Given the description of an element on the screen output the (x, y) to click on. 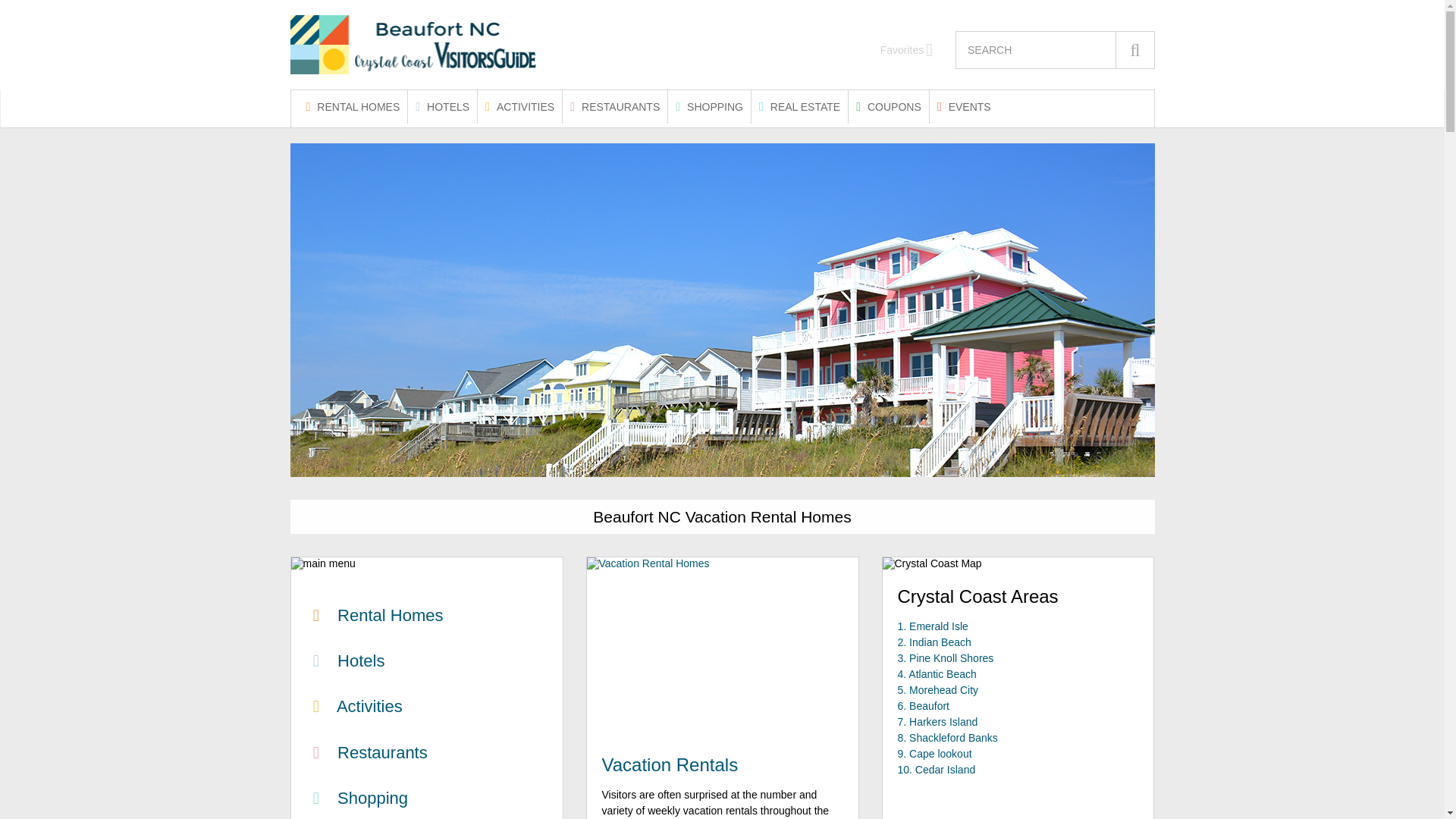
EVENTS (964, 106)
HOTELS (442, 106)
Favorites (906, 49)
REAL ESTATE (799, 106)
RESTAURANTS (614, 106)
Vacation Rentals (670, 764)
  Hotels (345, 660)
SHOPPING (709, 106)
  Restaurants (366, 752)
  Shopping (357, 798)
